Given the description of an element on the screen output the (x, y) to click on. 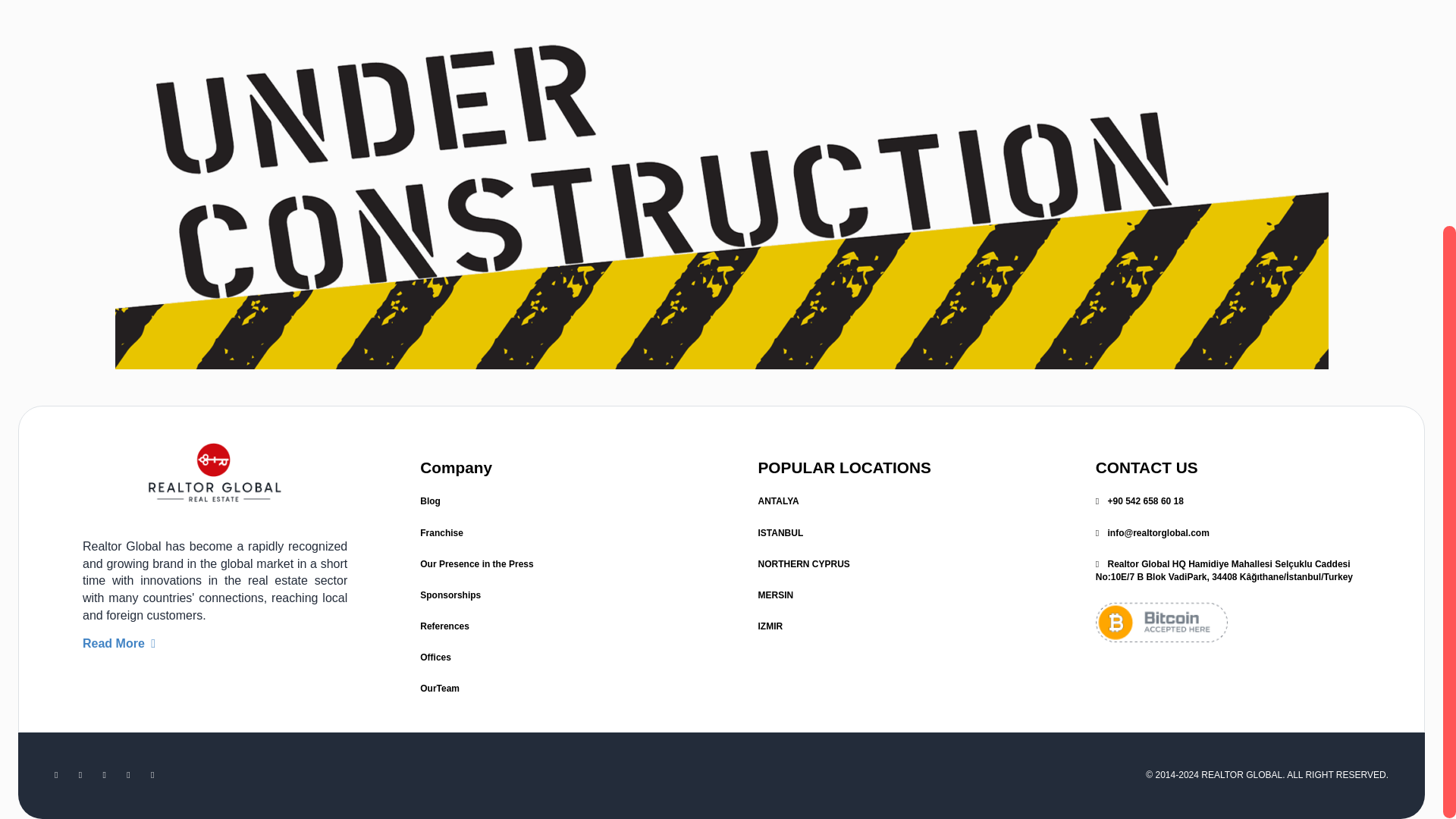
IZMIR (770, 625)
ANTALYA (778, 501)
CONTACT US (1147, 466)
Franchise (441, 532)
Blog (430, 501)
References (444, 625)
NORTHERN CYPRUS (804, 563)
Company (456, 466)
Read More (118, 643)
POPULAR LOCATIONS (844, 466)
Our Presence in the Press (476, 563)
Offices (435, 656)
ISTANBUL (780, 532)
MERSIN (775, 594)
Sponsorships (450, 594)
